Given the description of an element on the screen output the (x, y) to click on. 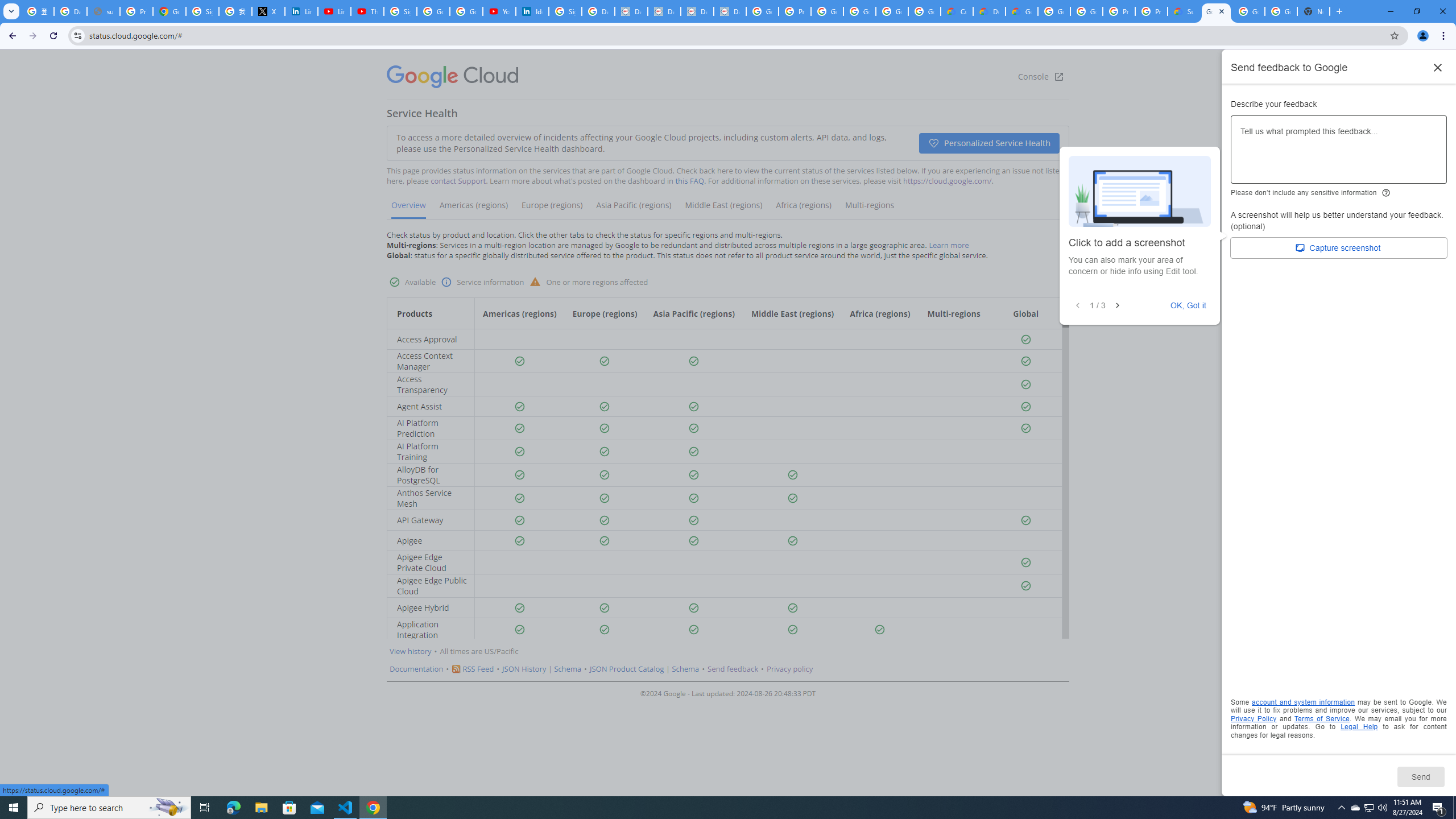
X (268, 11)
Available status (880, 629)
Google Cloud Platform (1281, 11)
Address and search bar (735, 35)
Documentation (417, 668)
Support Hub | Google Cloud (1183, 11)
Console (1040, 76)
Send feedback (732, 668)
Europe (regions) (551, 209)
this FAQ (689, 181)
